Given the description of an element on the screen output the (x, y) to click on. 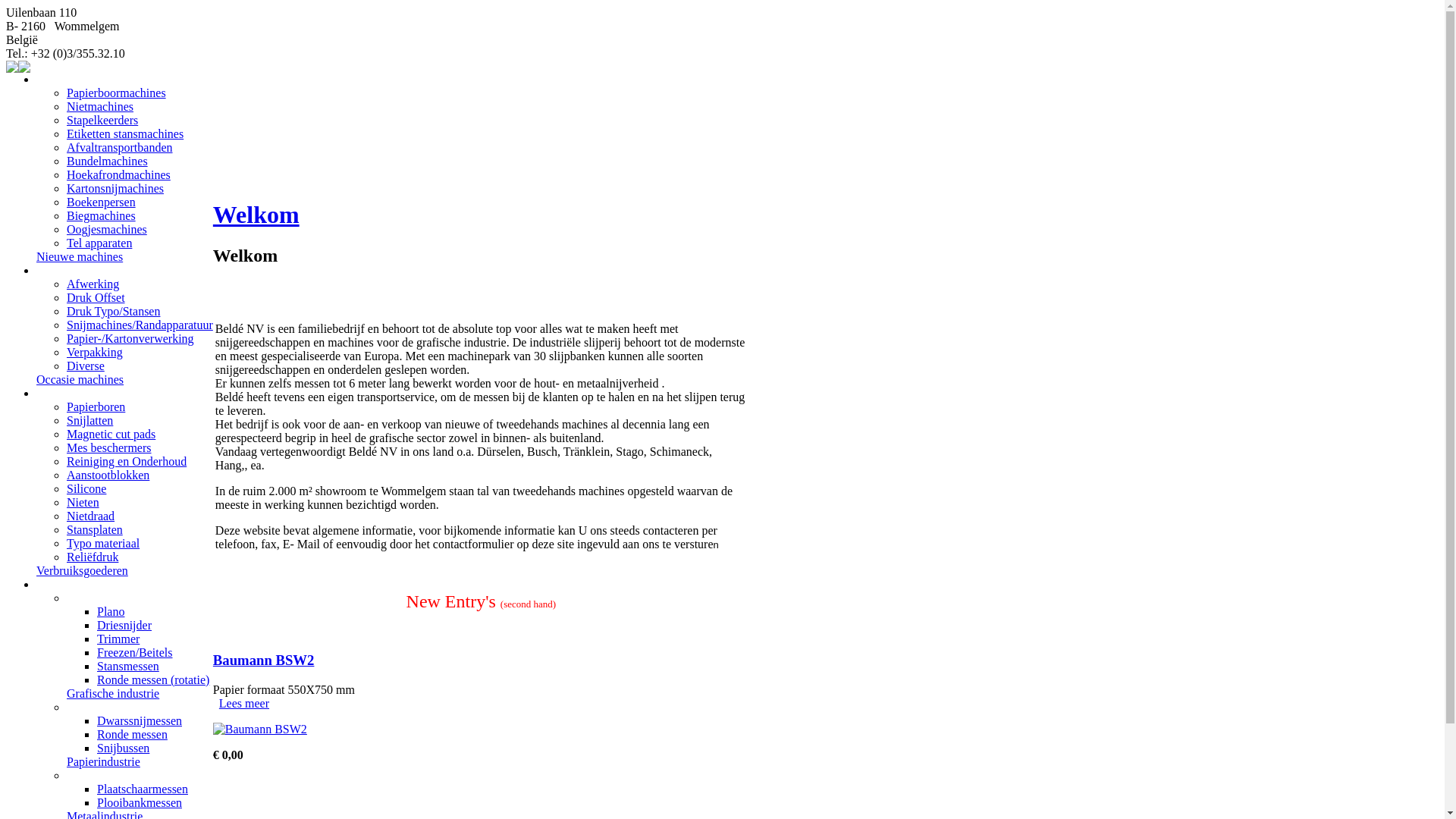
Stansmessen Element type: text (128, 665)
Silicone Element type: text (86, 488)
Oogjesmachines Element type: text (106, 228)
Typo materiaal Element type: text (102, 542)
Biegmachines Element type: text (100, 215)
Diverse Element type: text (85, 365)
Verpakking Element type: text (94, 351)
Stapelkeerders Element type: text (102, 119)
Magnetic cut pads Element type: text (110, 433)
Snijmachines/Randapparatuur Element type: text (139, 324)
Tel apparaten Element type: text (98, 242)
Bundelmachines Element type: text (106, 160)
Papierboren Element type: text (95, 406)
Etiketten stansmachines Element type: text (124, 133)
Papier-/Kartonverwerking Element type: text (130, 338)
Ronde messen (rotatie) Element type: text (153, 679)
Snijlatten Element type: text (89, 420)
Occasie machines Element type: text (79, 379)
Reiniging en Onderhoud Element type: text (126, 461)
Verbruiksgoederen Element type: text (82, 570)
Nieten Element type: text (82, 501)
Boekenpersen Element type: text (100, 201)
Trimmer Element type: text (118, 638)
Nietdraad Element type: text (90, 515)
Freezen/Beitels Element type: text (134, 652)
Welkom Element type: text (256, 214)
Afvaltransportbanden Element type: text (119, 147)
Plano Element type: text (110, 611)
Nieuwe machines Element type: text (79, 256)
Kartonsnijmachines Element type: text (114, 188)
Lees meer Element type: text (244, 702)
Plaatschaarmessen Element type: text (142, 788)
Grafische industrie Element type: text (112, 693)
Plooibankmessen Element type: text (139, 802)
Papierindustrie Element type: text (103, 761)
Baumann BSW2 Element type: text (263, 660)
Druk Typo/Stansen Element type: text (113, 310)
Nietmachines Element type: text (99, 106)
Mes beschermers Element type: text (108, 447)
Papierboormachines Element type: text (116, 92)
Ronde messen Element type: text (132, 734)
Aanstootblokken Element type: text (107, 474)
Druk Offset Element type: text (95, 297)
Dwarssnijmessen Element type: text (139, 720)
Driesnijder Element type: text (124, 624)
Stansplaten Element type: text (94, 529)
Hoekafrondmachines Element type: text (118, 174)
Afwerking Element type: text (92, 283)
Snijbussen Element type: text (123, 747)
